Given the description of an element on the screen output the (x, y) to click on. 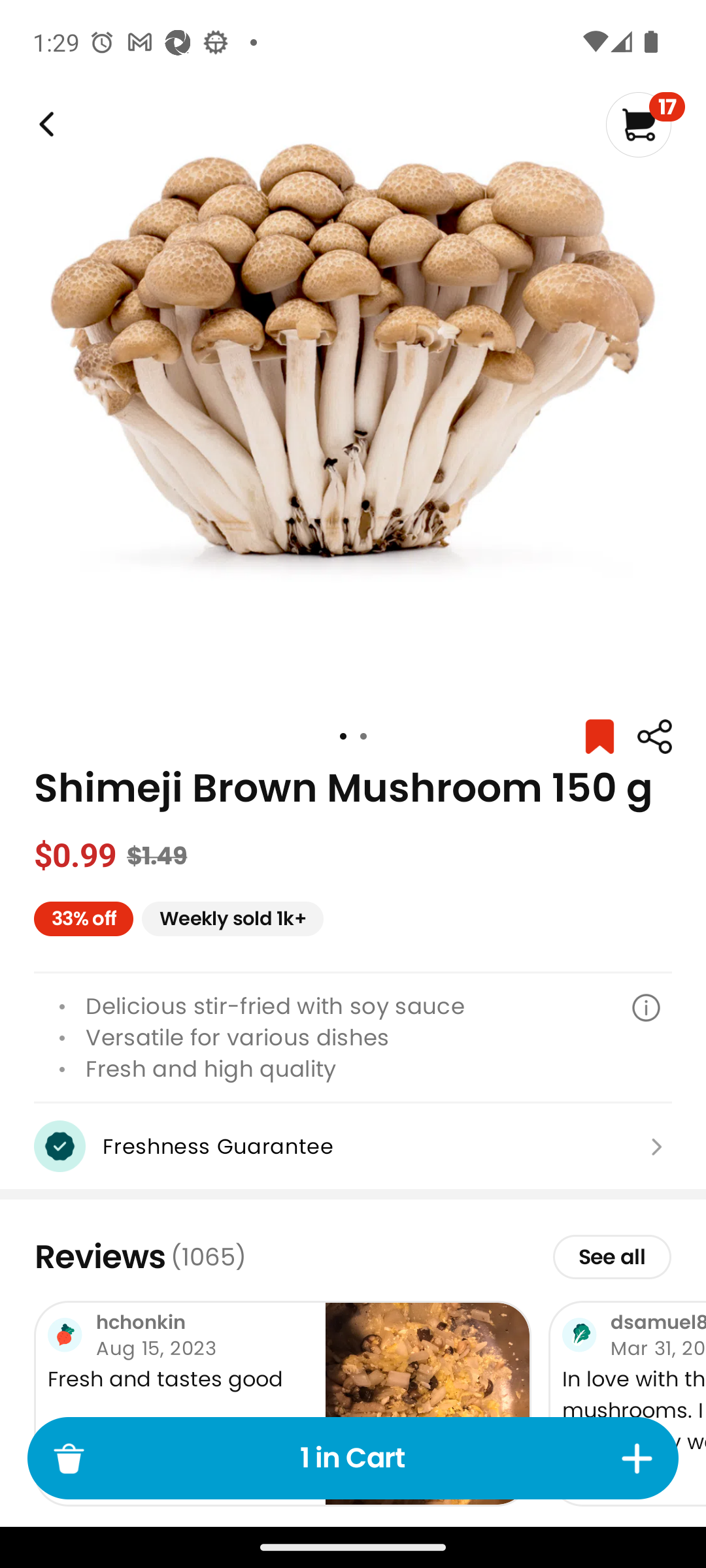
17 (644, 124)
Weee! (45, 124)
Weee! (653, 736)
Freshness Guarantee (352, 1145)
Reviews (1065) See all (353, 1256)
1 in Cart (352, 1458)
